Given the description of an element on the screen output the (x, y) to click on. 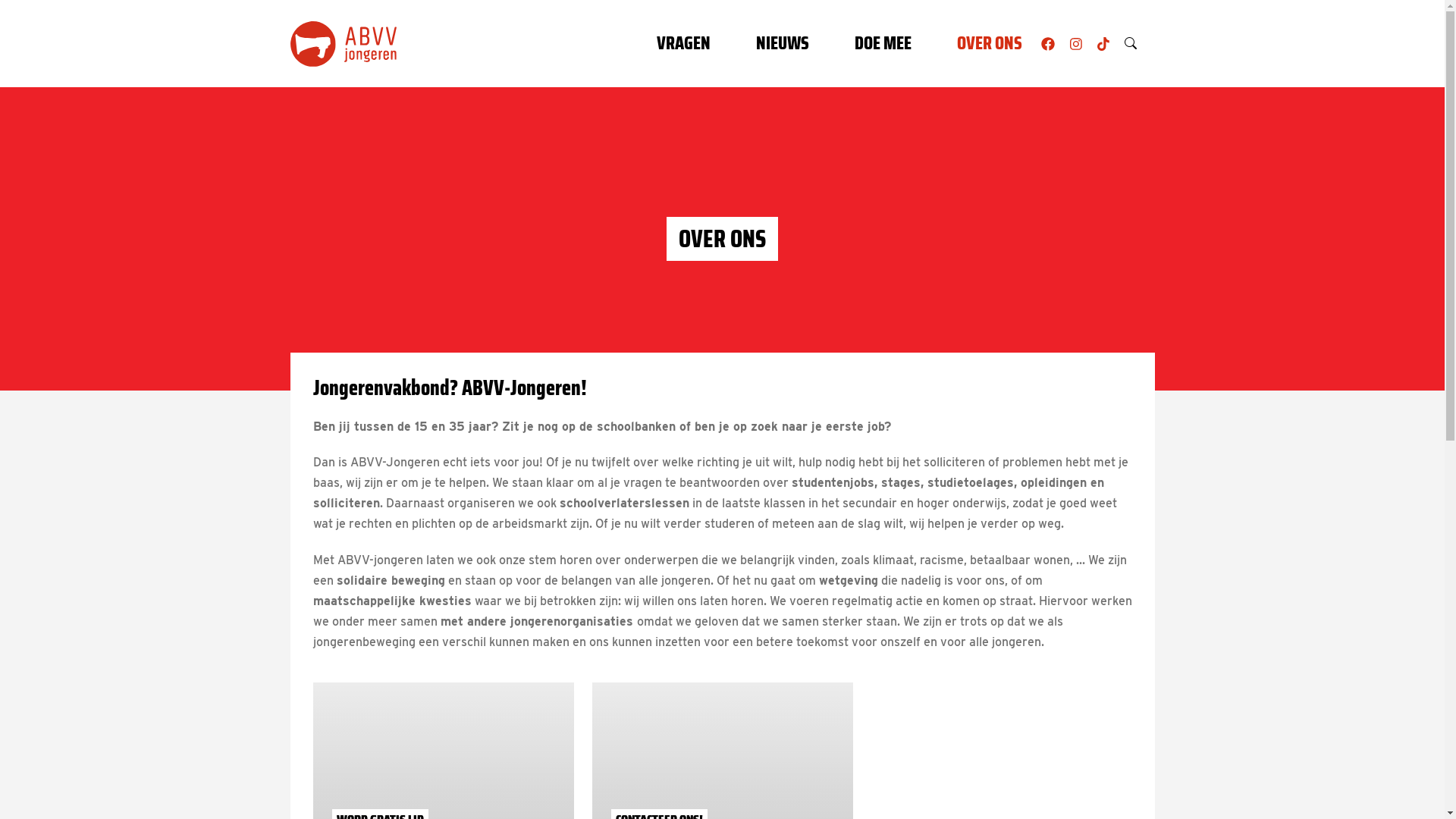
NIEUWS Element type: text (782, 43)
Overslaan en naar de inhoud gaan Element type: text (0, 0)
DOE MEE Element type: text (882, 43)
OVER ONS Element type: text (989, 43)
Apply Element type: text (1129, 42)
VRAGEN Element type: text (683, 43)
